Given the description of an element on the screen output the (x, y) to click on. 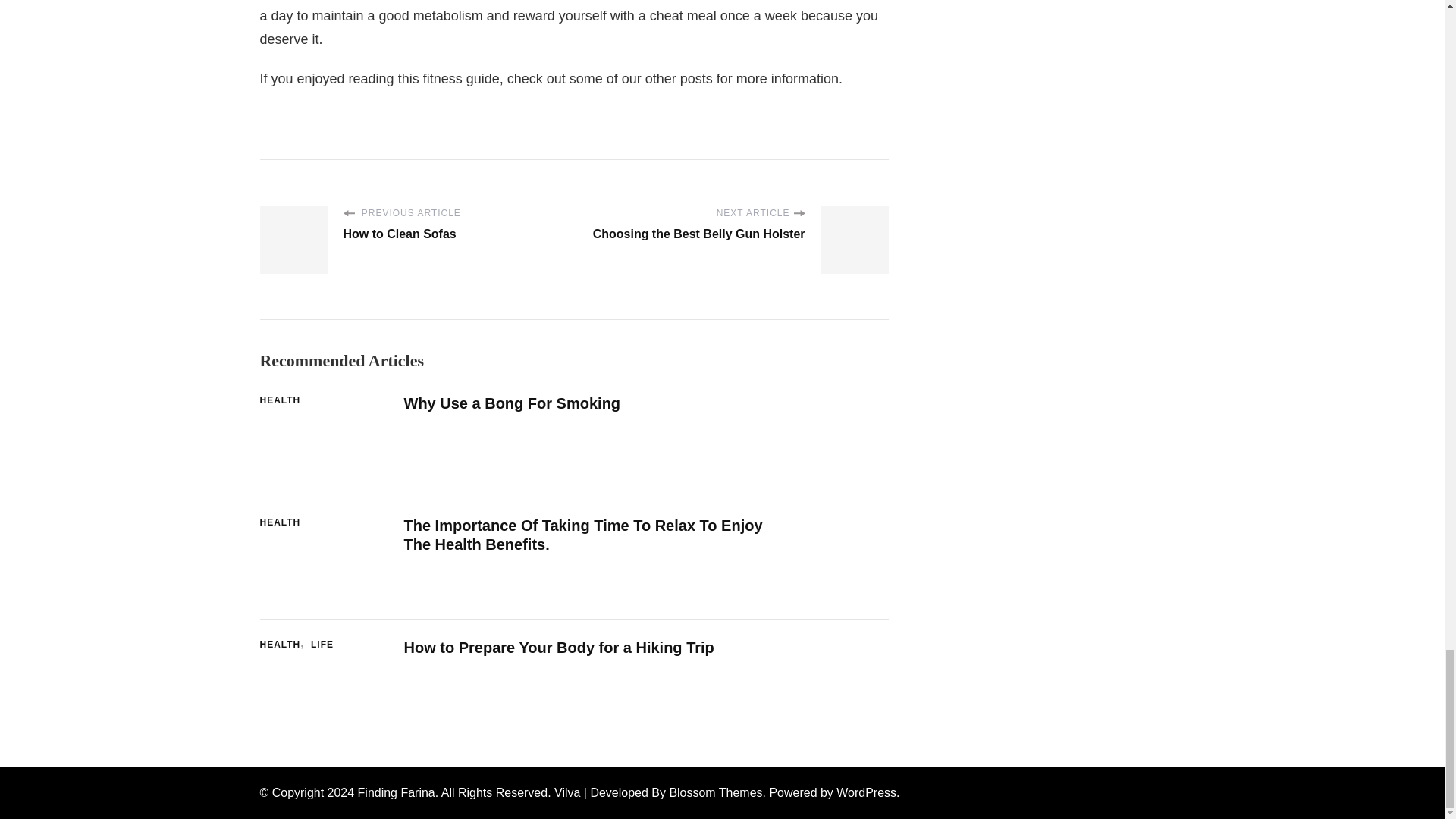
LIFE (322, 644)
How to Prepare Your Body for a Hiking Trip (558, 647)
HEALTH (279, 522)
HEALTH (283, 644)
Why Use a Bong For Smoking (511, 402)
HEALTH (279, 400)
